Given the description of an element on the screen output the (x, y) to click on. 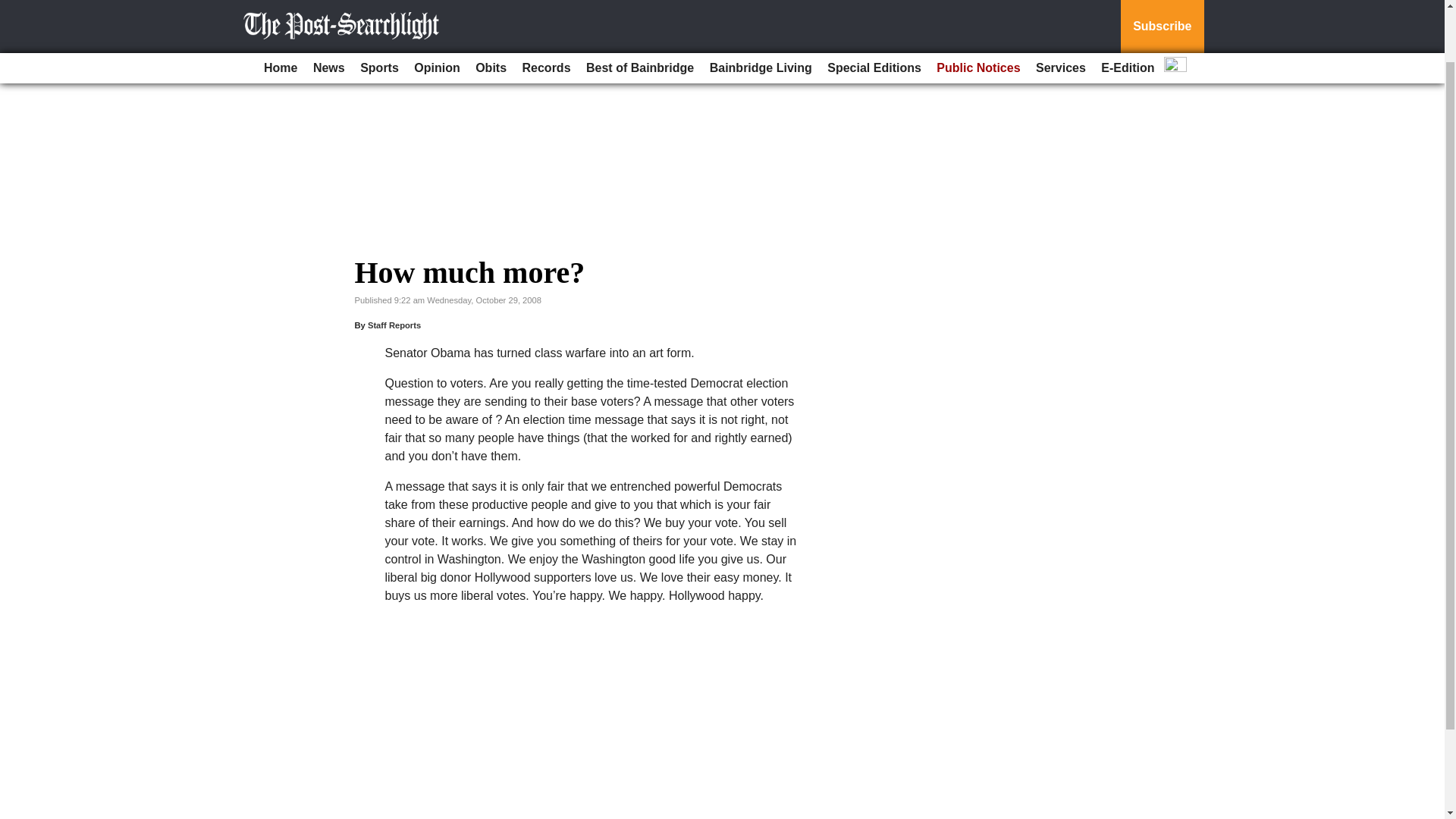
Sports (378, 10)
E-Edition (1127, 10)
Special Editions (874, 10)
Public Notices (978, 10)
Best of Bainbridge (639, 10)
Opinion (436, 10)
News (328, 10)
Records (546, 10)
Home (279, 10)
Staff Reports (394, 325)
